Given the description of an element on the screen output the (x, y) to click on. 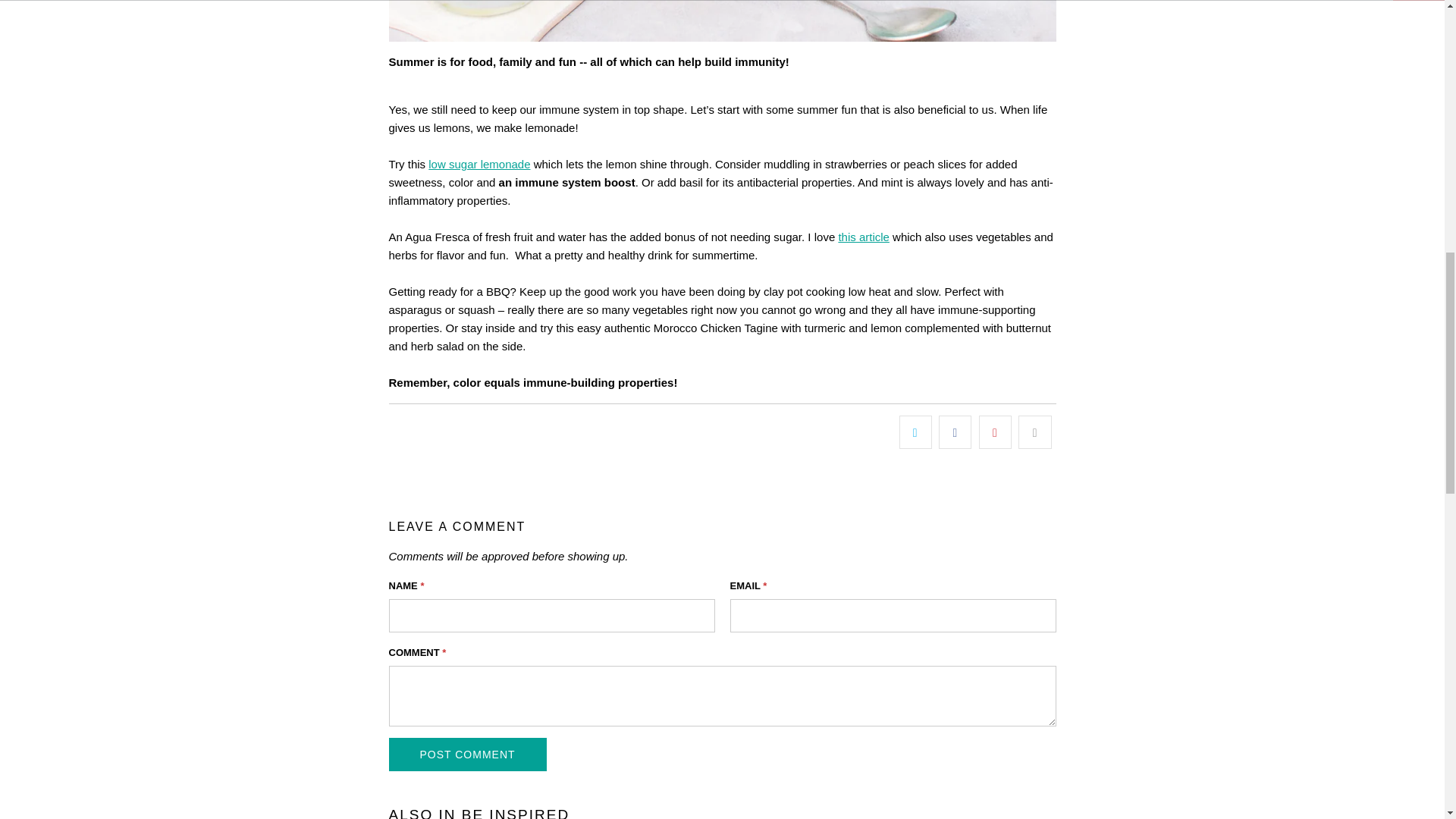
Share this on Facebook (955, 431)
Post comment (467, 754)
Share this on Twitter (915, 431)
